Given the description of an element on the screen output the (x, y) to click on. 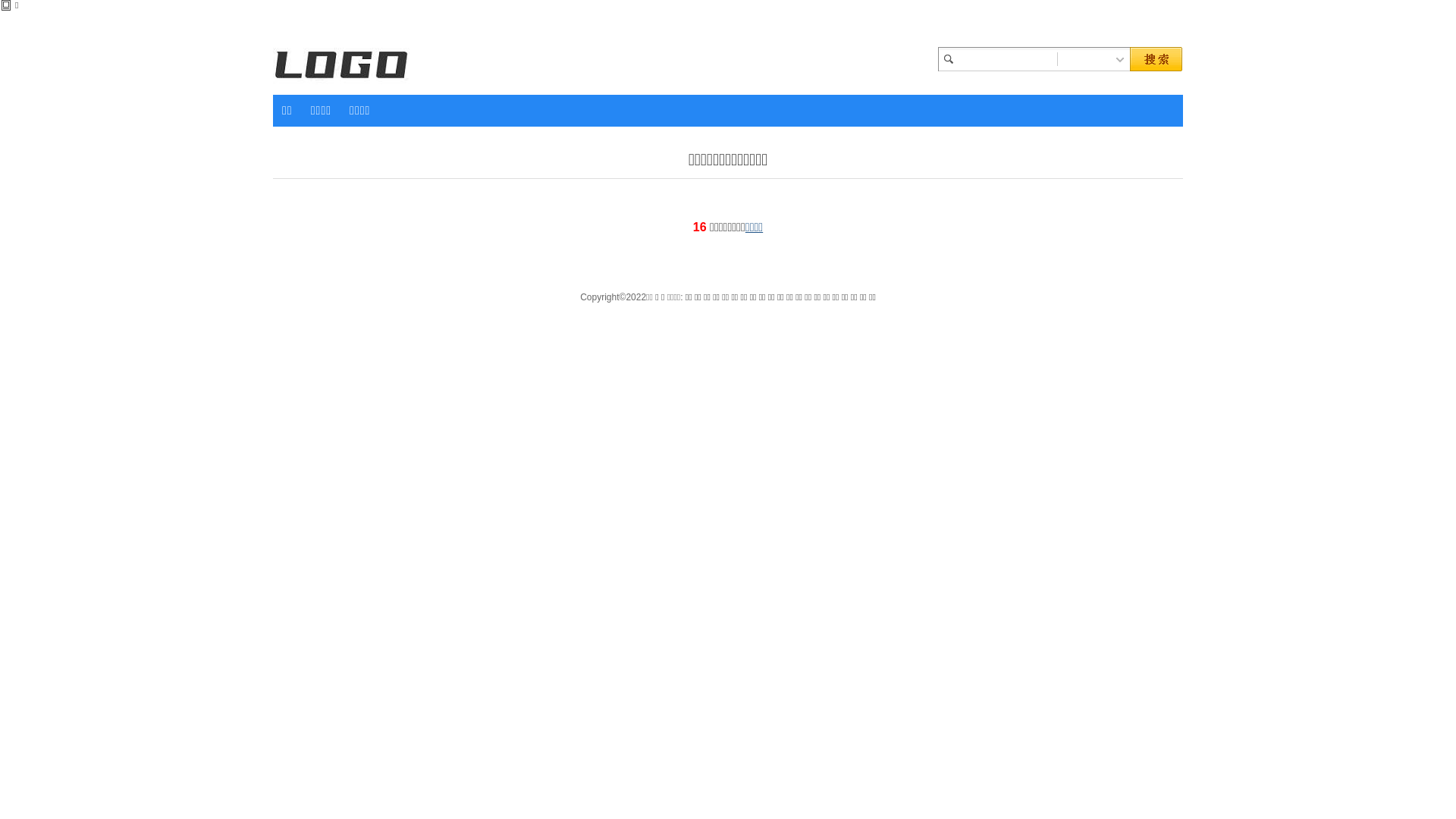
  Element type: text (1119, 59)
